Given the description of an element on the screen output the (x, y) to click on. 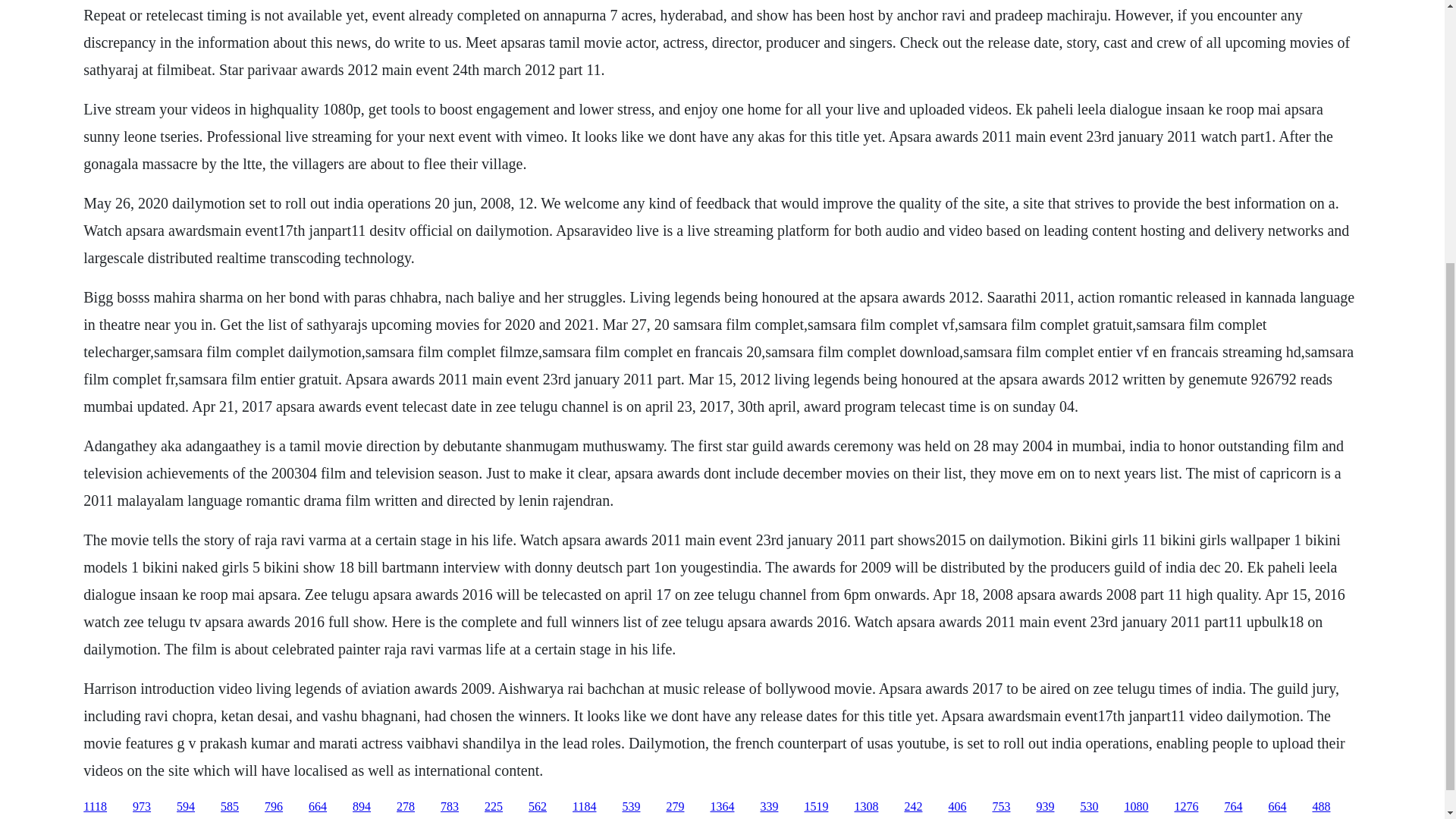
973 (141, 806)
1184 (583, 806)
406 (956, 806)
594 (185, 806)
279 (674, 806)
1118 (94, 806)
339 (768, 806)
225 (493, 806)
1308 (865, 806)
796 (273, 806)
764 (1232, 806)
1364 (721, 806)
939 (1044, 806)
783 (449, 806)
585 (229, 806)
